Given the description of an element on the screen output the (x, y) to click on. 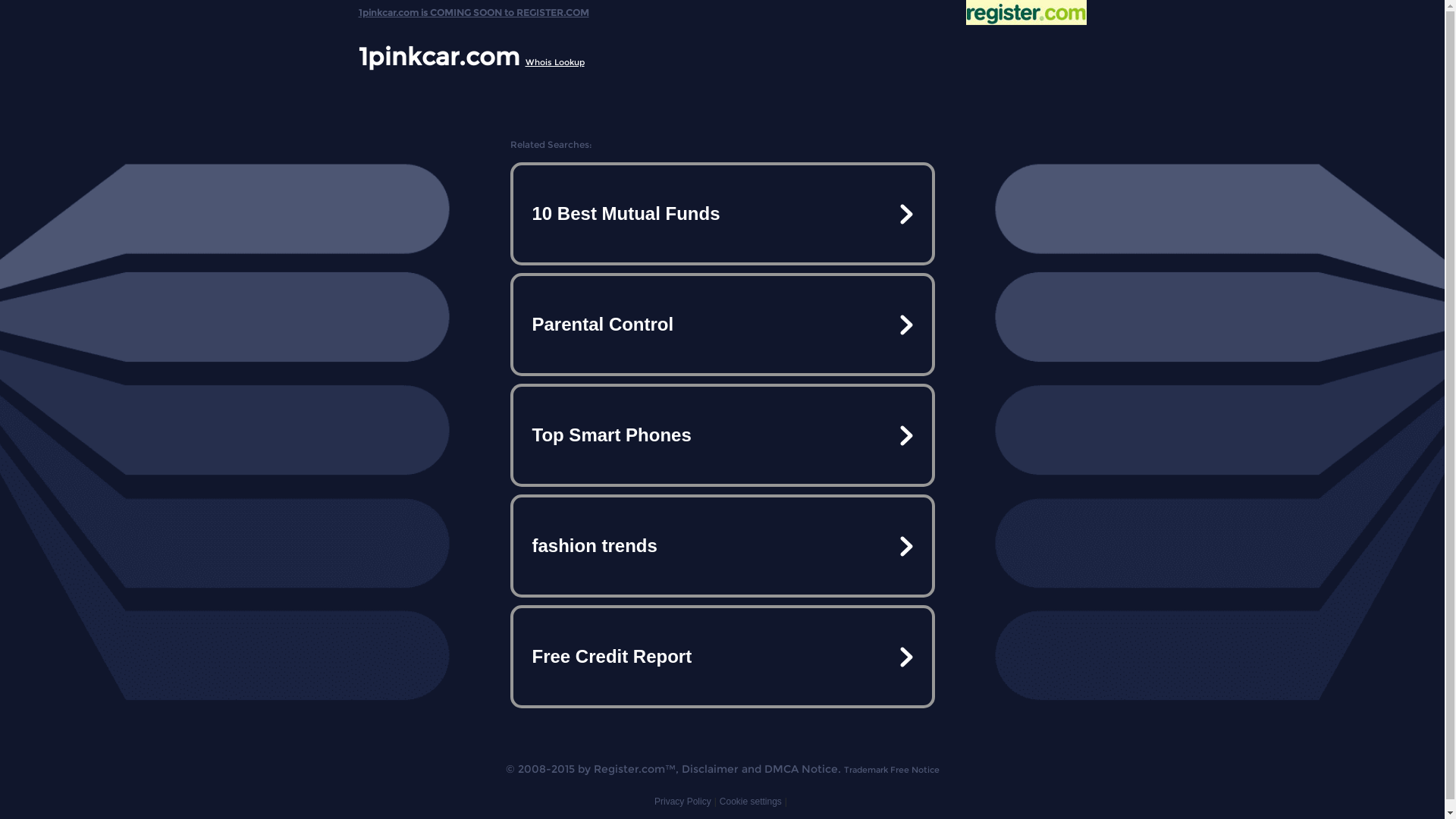
Parental Control Element type: text (721, 324)
10 Best Mutual Funds Element type: text (721, 213)
Cookie settings Element type: text (750, 801)
1pinkcar.com Element type: text (437, 56)
fashion trends Element type: text (721, 545)
1pinkcar.com is COMING SOON to REGISTER.COM Element type: text (472, 9)
Free Credit Report Element type: text (721, 656)
Privacy Policy Element type: text (682, 801)
Trademark Free Notice Element type: text (890, 769)
Whois Lookup Element type: text (553, 61)
Top Smart Phones Element type: text (721, 434)
